Given the description of an element on the screen output the (x, y) to click on. 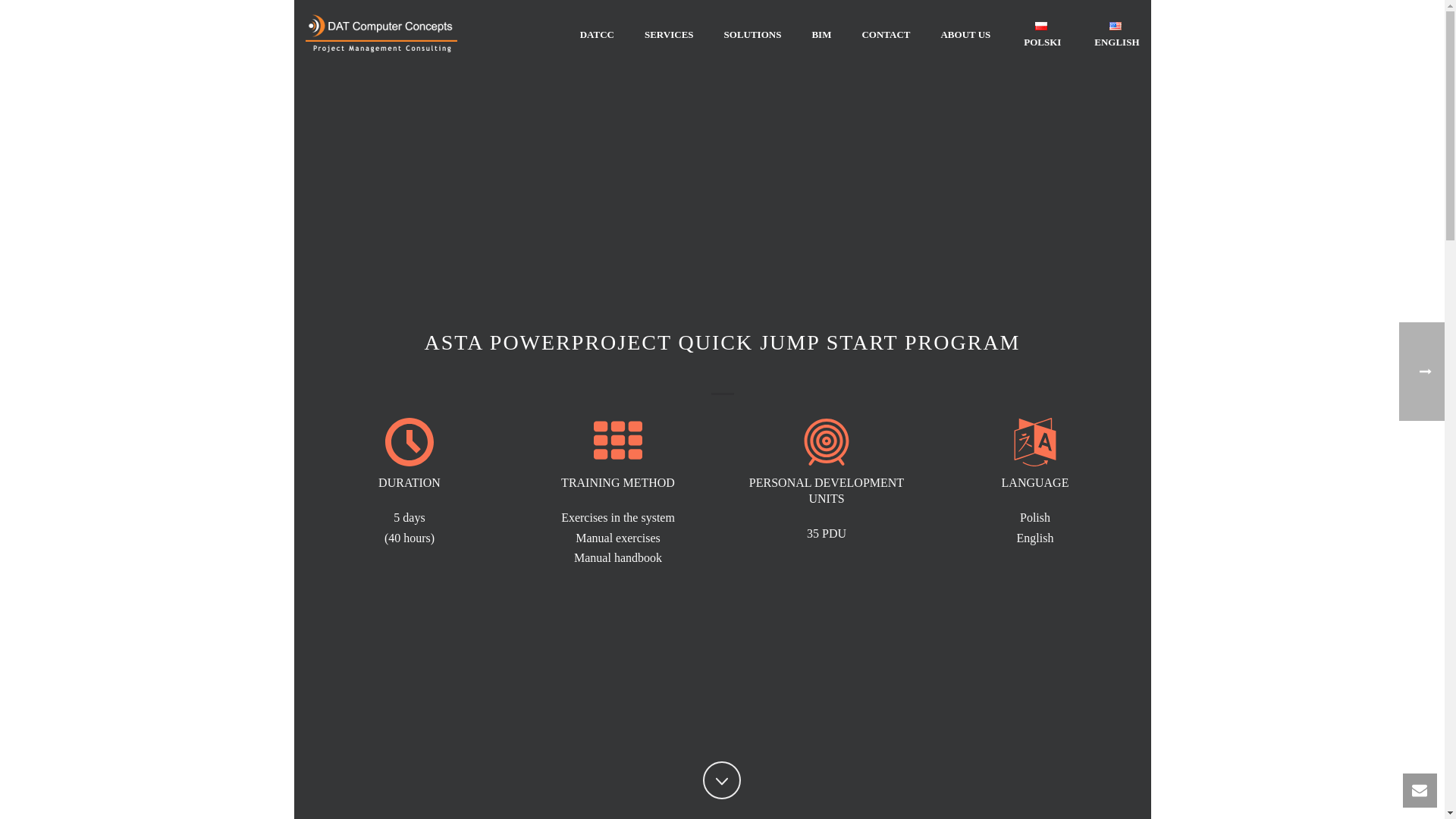
SERVICES (668, 34)
ENGLISH (1114, 34)
ENGLISH (1114, 34)
DATCC (596, 34)
POLSKI (1040, 34)
SOLUTIONS (752, 34)
POLSKI (1040, 34)
ABOUT US (965, 34)
BIM (820, 34)
SERVICES (668, 34)
CONTACT (884, 34)
CONTACT (884, 34)
ABOUT US (965, 34)
DATCC (596, 34)
BIM (820, 34)
